Given the description of an element on the screen output the (x, y) to click on. 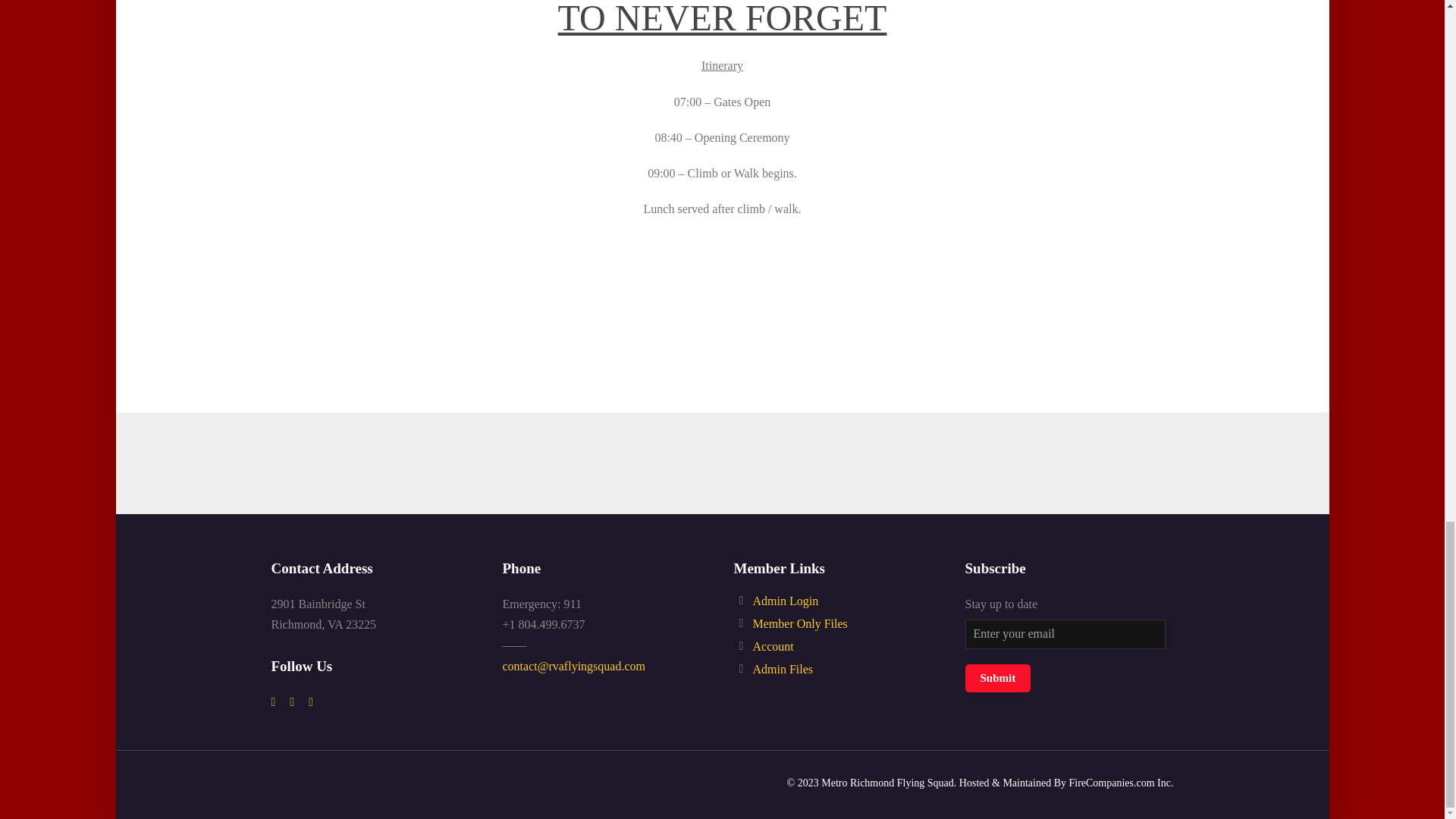
Admin Login (785, 600)
Account (772, 645)
Member Only Files (799, 623)
